Given the description of an element on the screen output the (x, y) to click on. 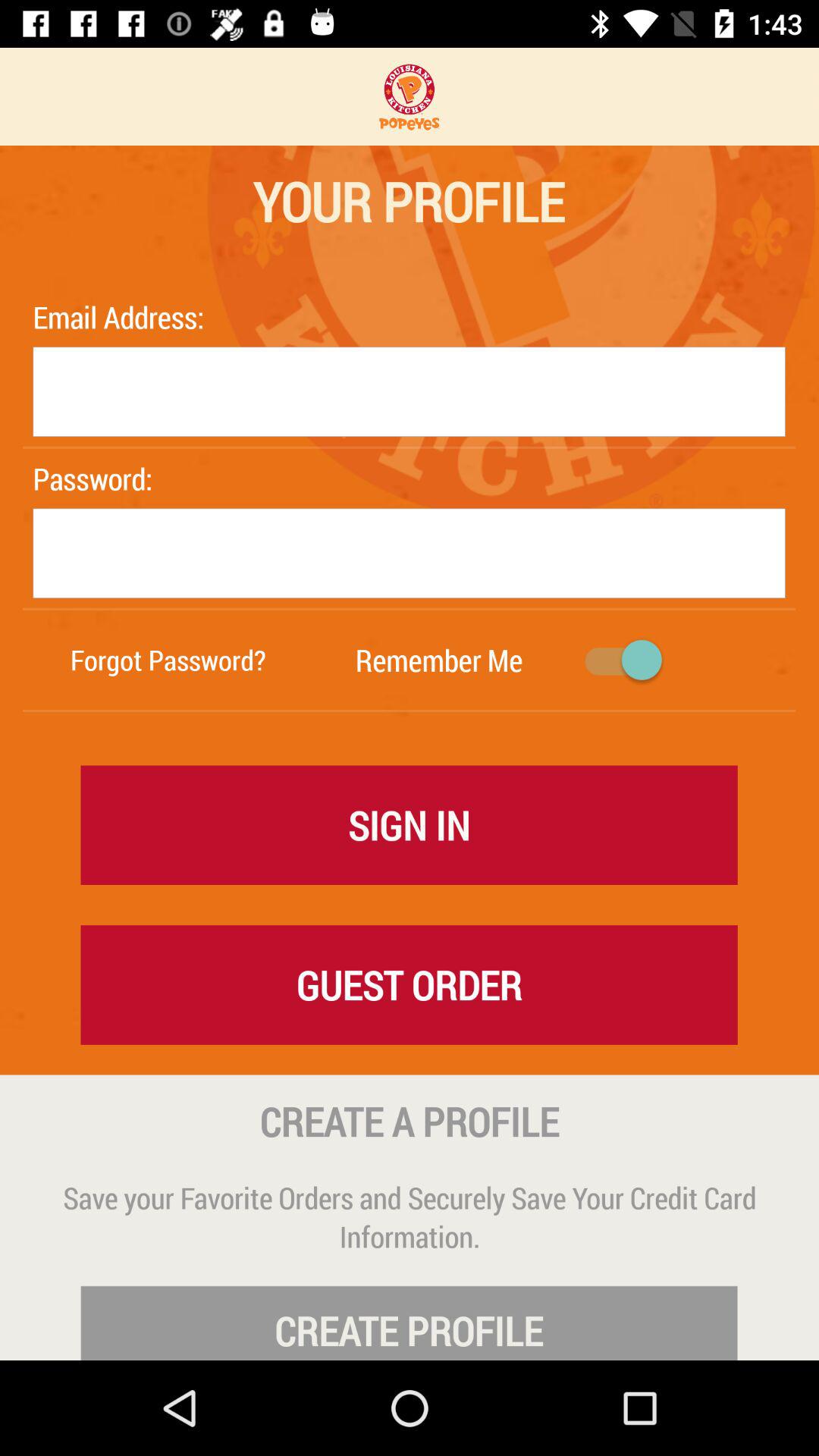
press item above the guest order icon (409, 824)
